Given the description of an element on the screen output the (x, y) to click on. 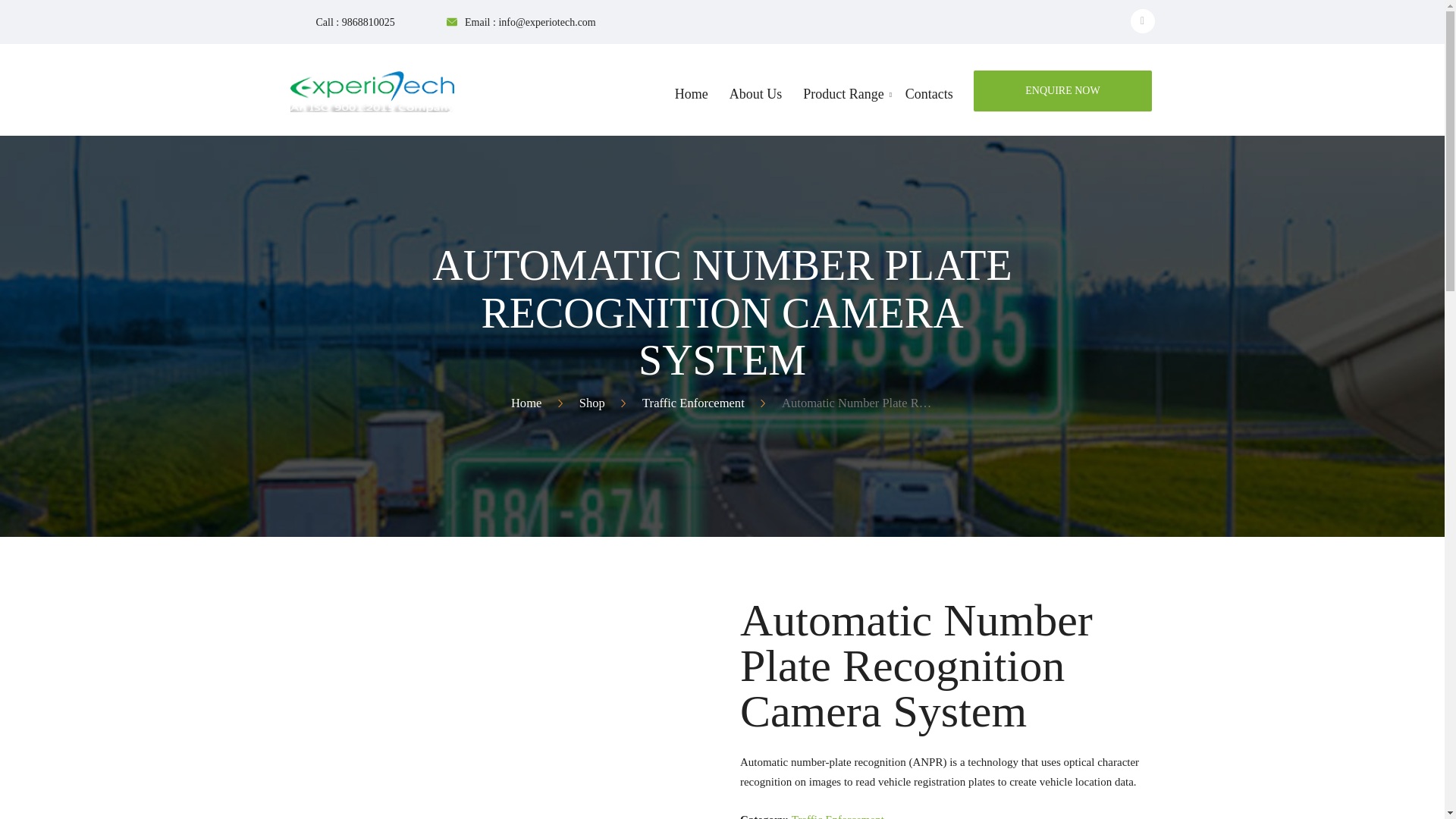
Traffic Enforcement (837, 816)
ENQUIRE NOW (1062, 90)
Contacts (929, 100)
Product Range (842, 100)
Home (526, 402)
Contacts  (1062, 90)
Shop (592, 402)
Traffic Enforcement (693, 402)
About Us (756, 100)
